Given the description of an element on the screen output the (x, y) to click on. 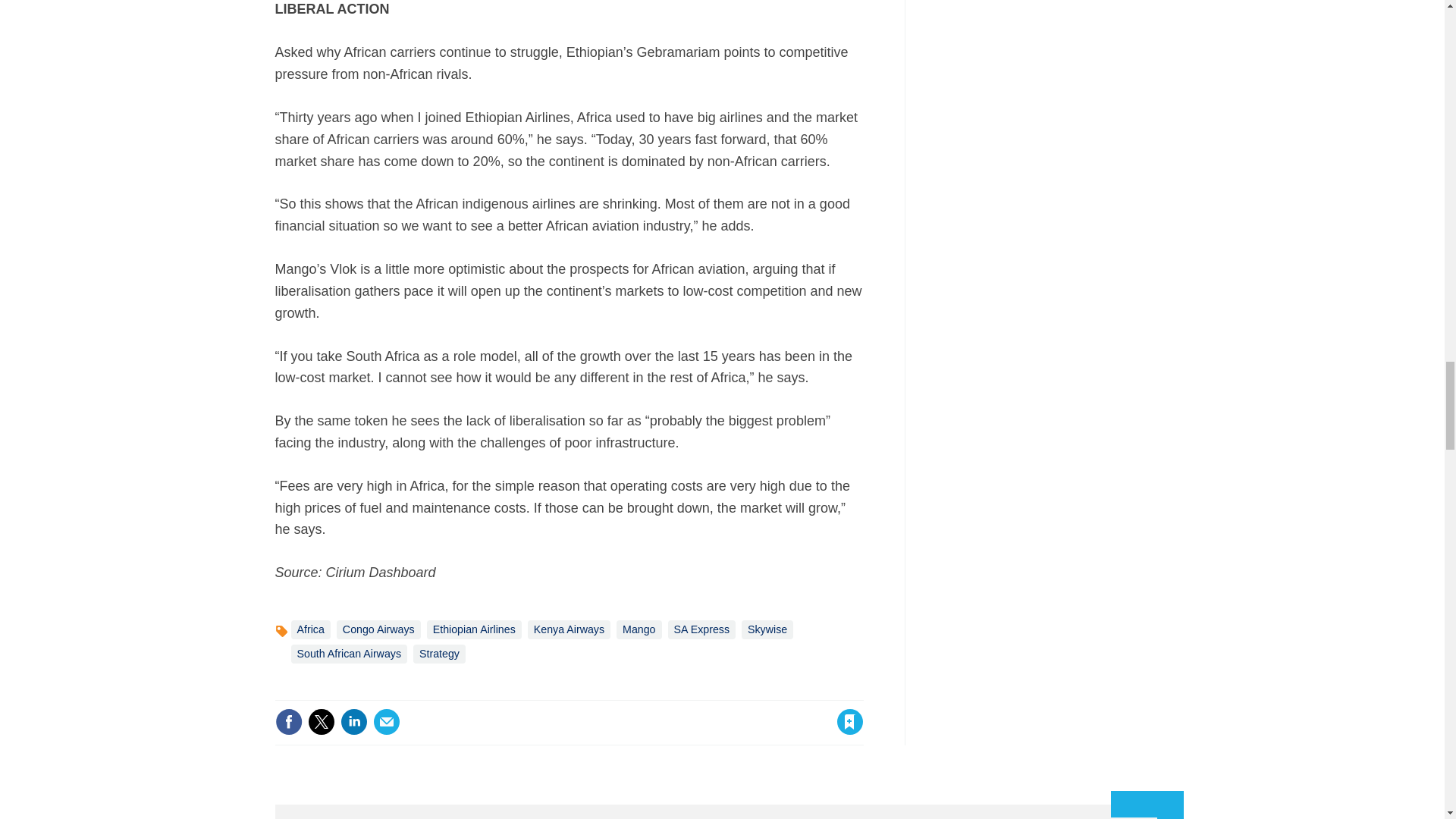
Share this on Facebook (288, 721)
Share this on Linked in (352, 721)
Share this on Twitter (320, 721)
Email this article (386, 721)
